Given the description of an element on the screen output the (x, y) to click on. 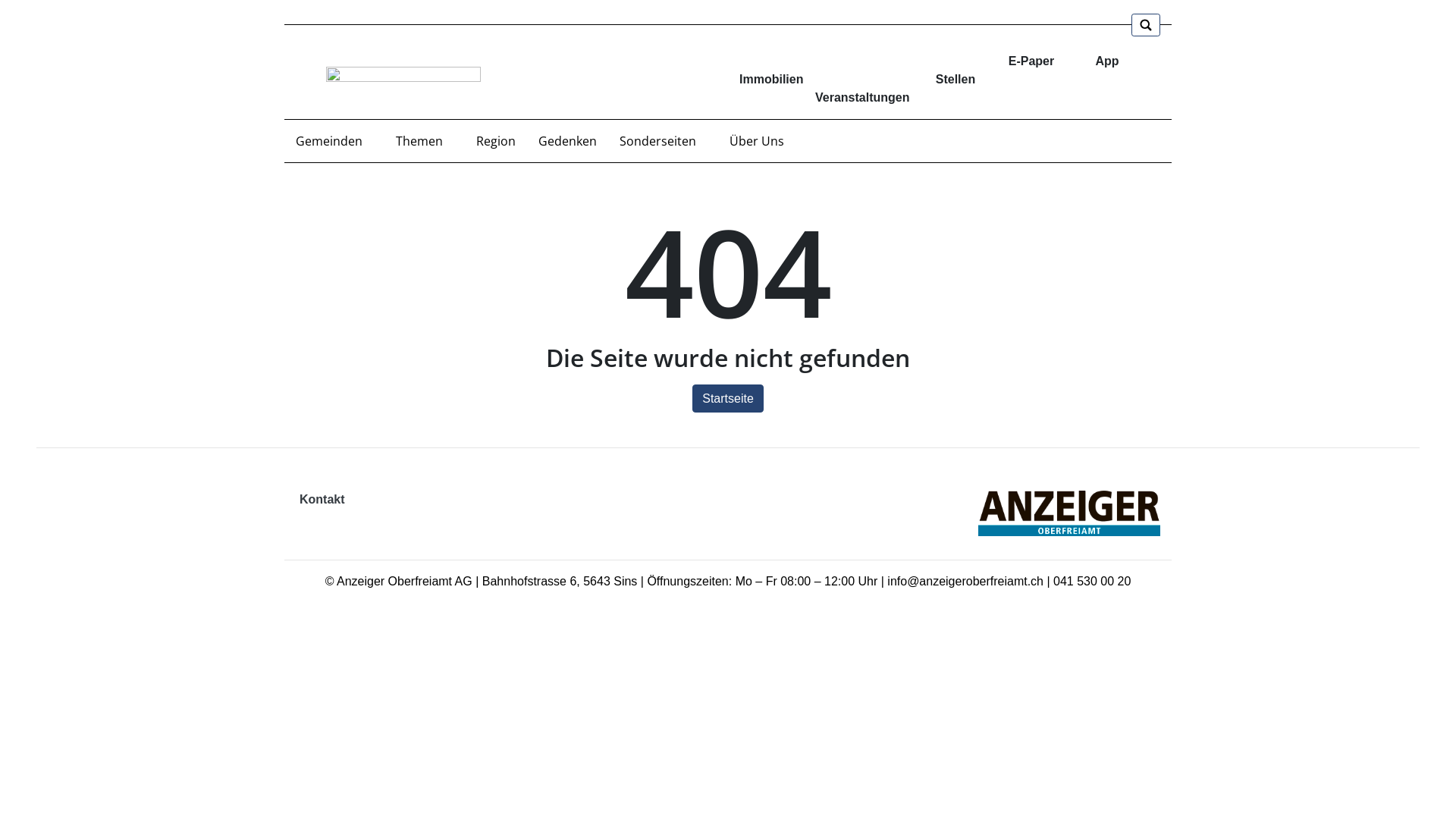
Veranstaltungen Element type: text (865, 85)
E-Paper Element type: text (1030, 61)
Stellen Element type: text (955, 71)
Gemeinden Element type: text (334, 140)
Gedenken Element type: text (567, 140)
Region Element type: text (495, 140)
Kontakt Element type: text (322, 498)
App Element type: text (1106, 61)
Sonderseiten Element type: text (663, 140)
Immobilien Element type: text (765, 71)
Startseite Element type: text (727, 398)
Themen Element type: text (424, 140)
